Given the description of an element on the screen output the (x, y) to click on. 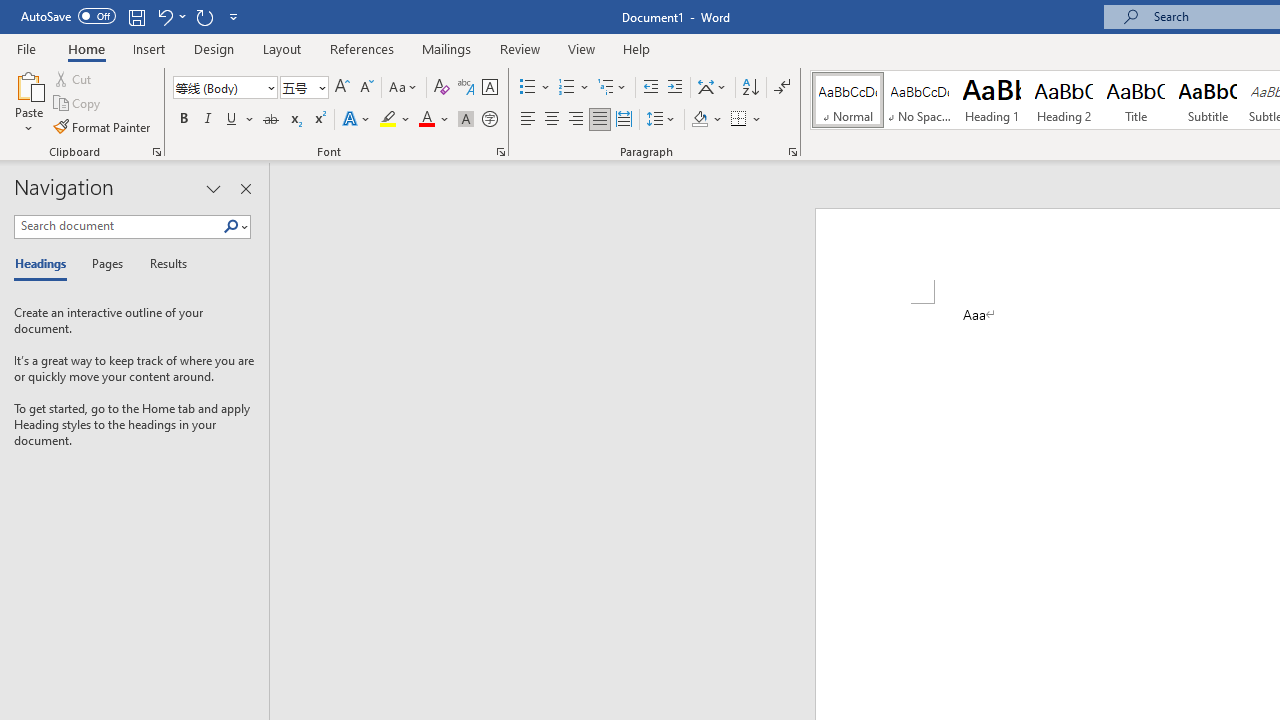
Shading (706, 119)
Asian Layout (712, 87)
Font Color (434, 119)
Pages (105, 264)
Font Color Red (426, 119)
Align Right (575, 119)
Justify (599, 119)
Strikethrough (270, 119)
